Given the description of an element on the screen output the (x, y) to click on. 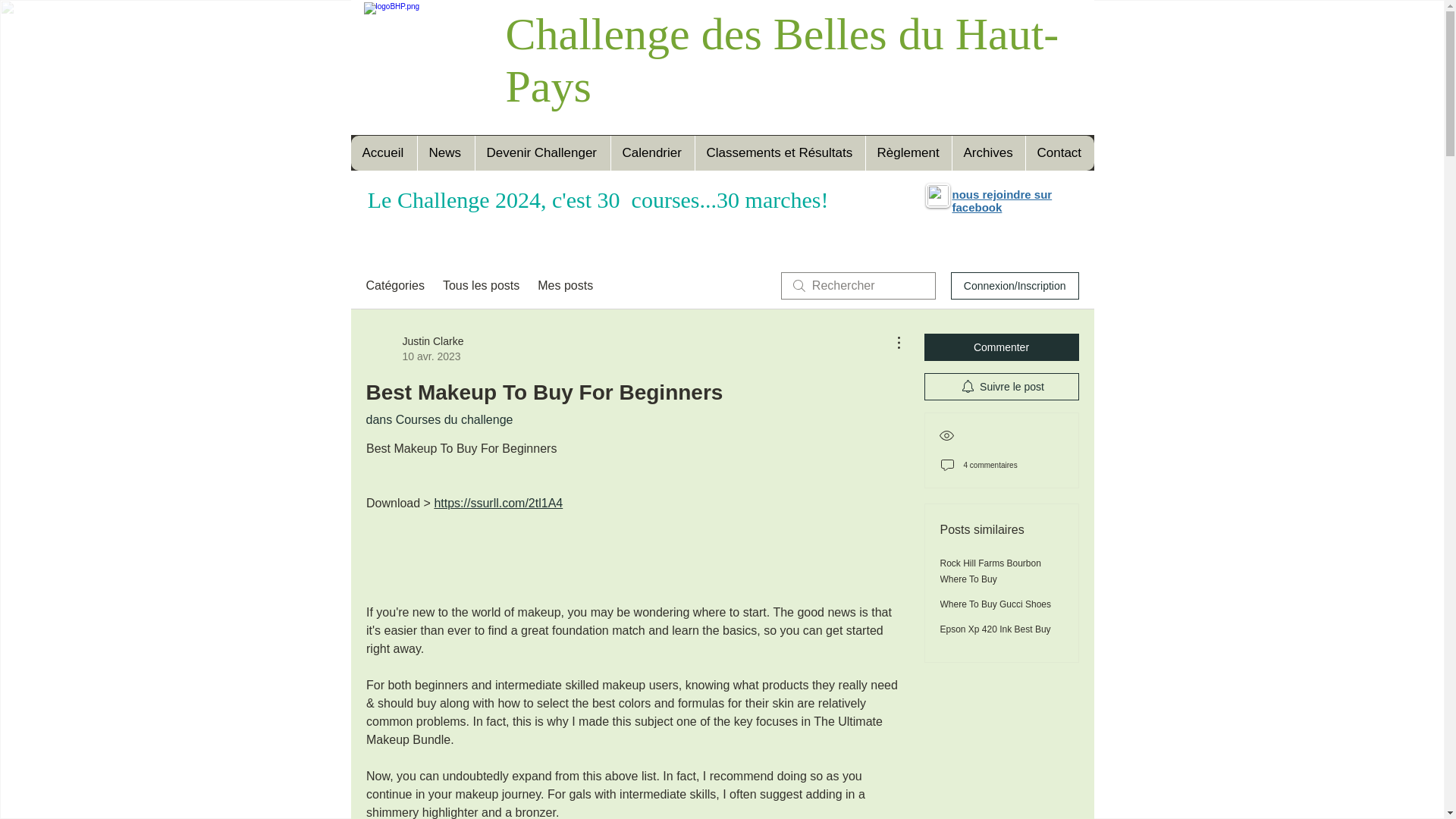
Tous les posts (480, 285)
Accueil (383, 152)
Mes posts (564, 285)
nous rejoindre sur facebook (1002, 200)
Devenir Challenger (542, 152)
News (445, 152)
Contact (1059, 152)
dans Courses du challenge (438, 419)
Calendrier (652, 152)
